Given the description of an element on the screen output the (x, y) to click on. 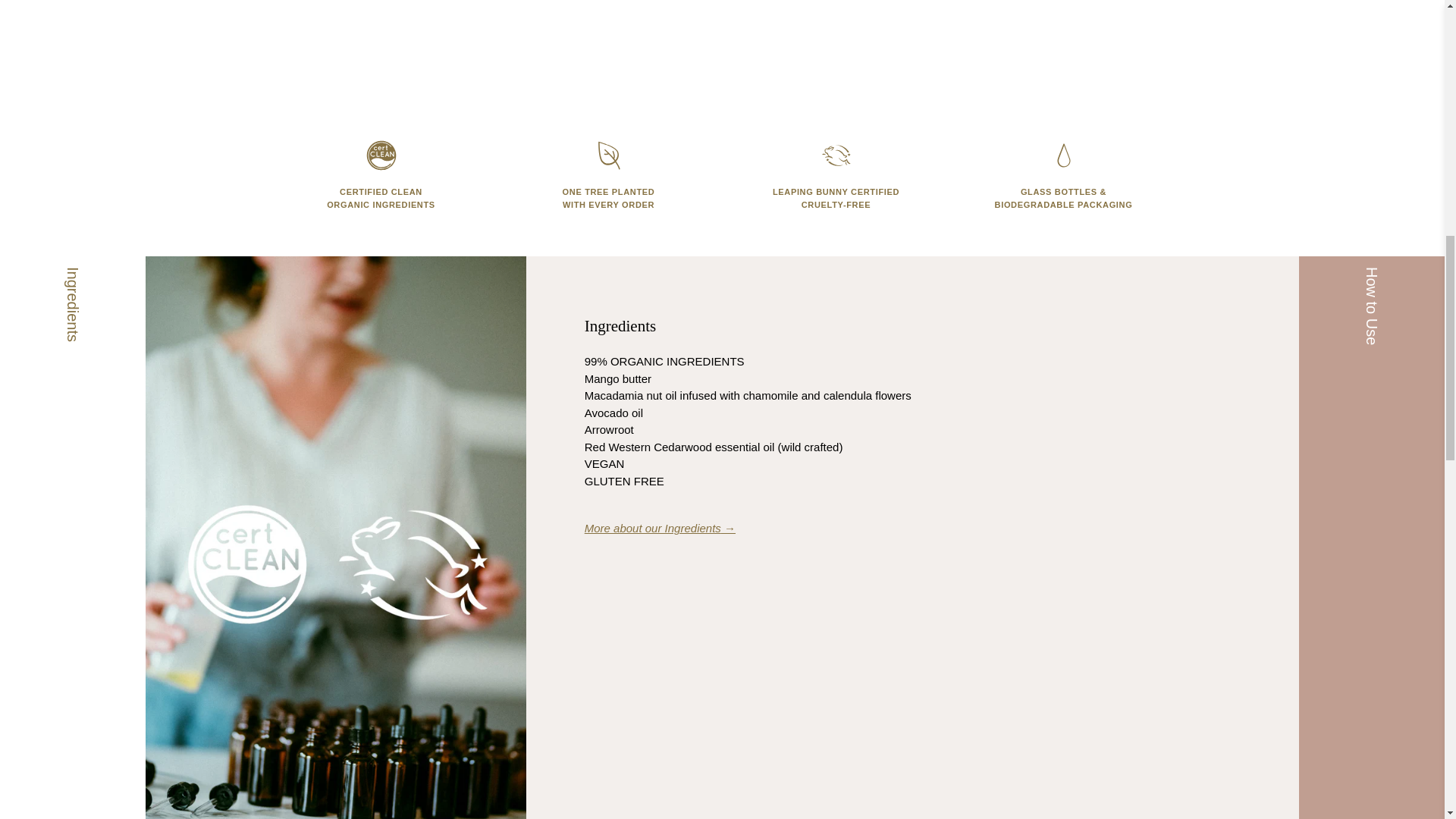
Ingredients (660, 527)
SE (1217, 7)
AE (1217, 85)
US (1217, 178)
CH (1217, 36)
GB (1217, 135)
